Given the description of an element on the screen output the (x, y) to click on. 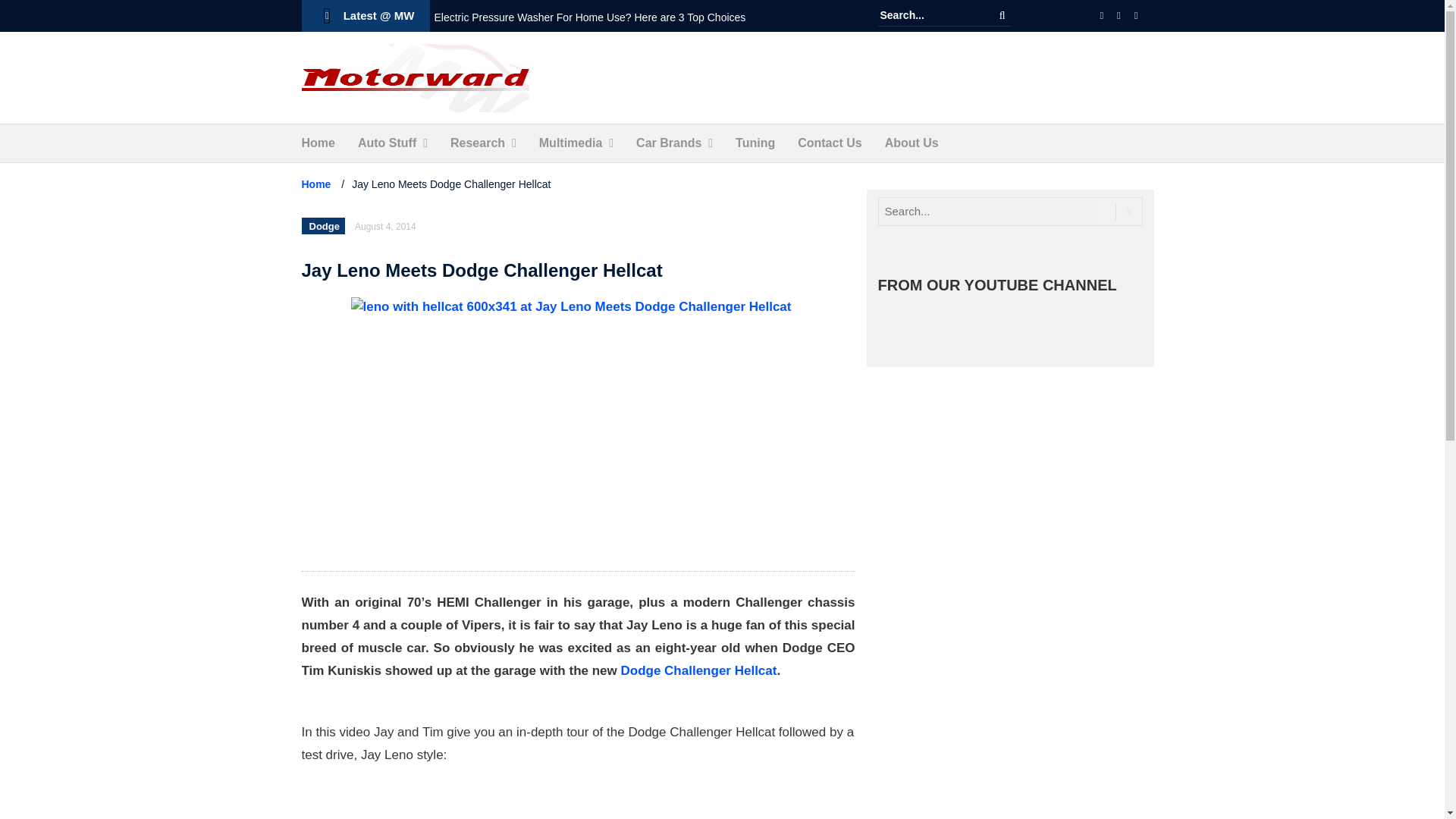
Home (317, 143)
leno with hellcat 600x341 (577, 426)
Multimedia (570, 143)
Research (477, 143)
Car Brands (668, 143)
Auto Stuff (387, 143)
Search   (1002, 14)
